Given the description of an element on the screen output the (x, y) to click on. 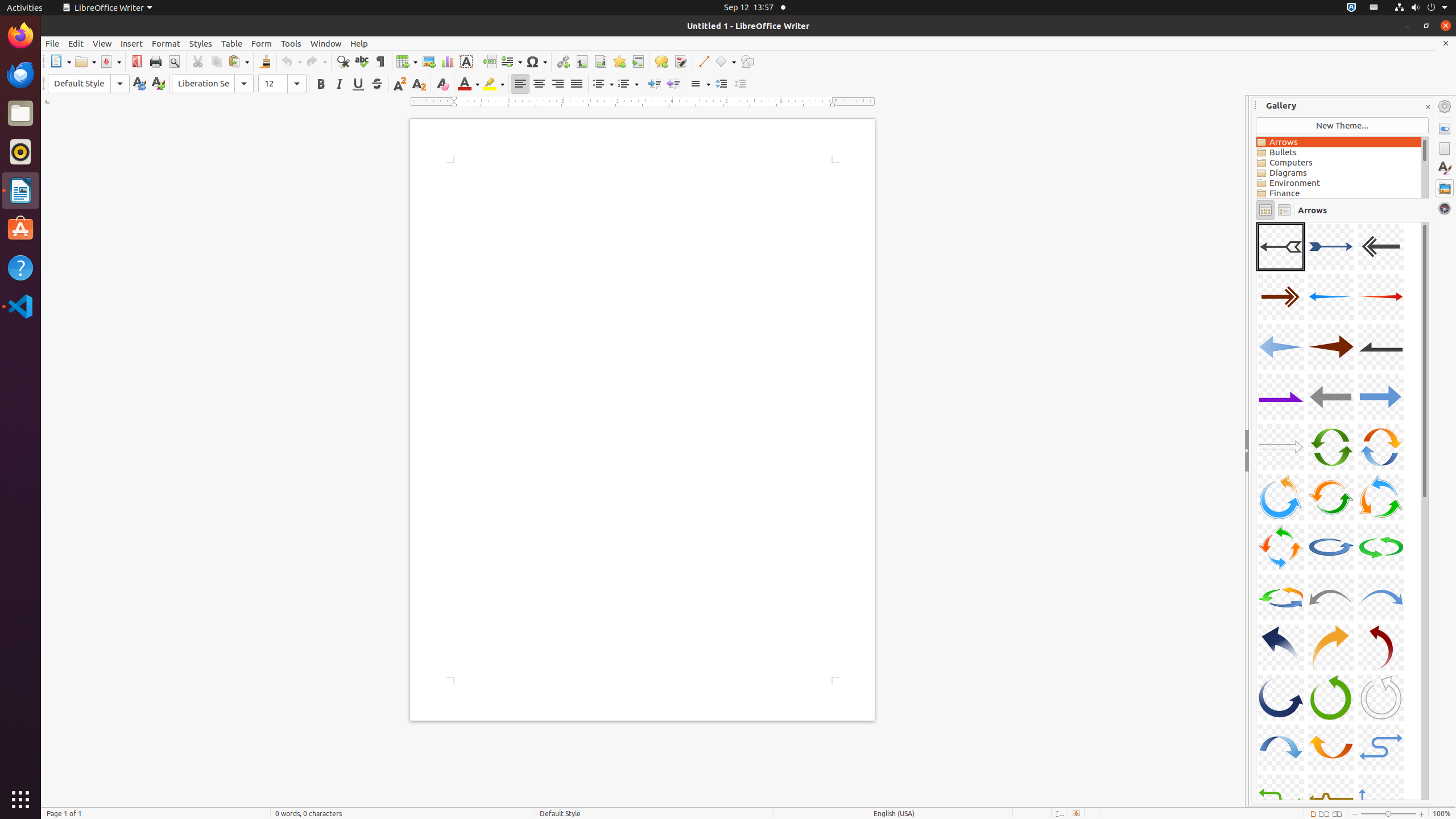
Gallery Element type: radio-button (1444, 188)
Field Element type: push-button (510, 61)
Cut Element type: push-button (197, 61)
Thunderbird Mail Element type: push-button (20, 74)
Subscript Element type: toggle-button (418, 83)
